Given the description of an element on the screen output the (x, y) to click on. 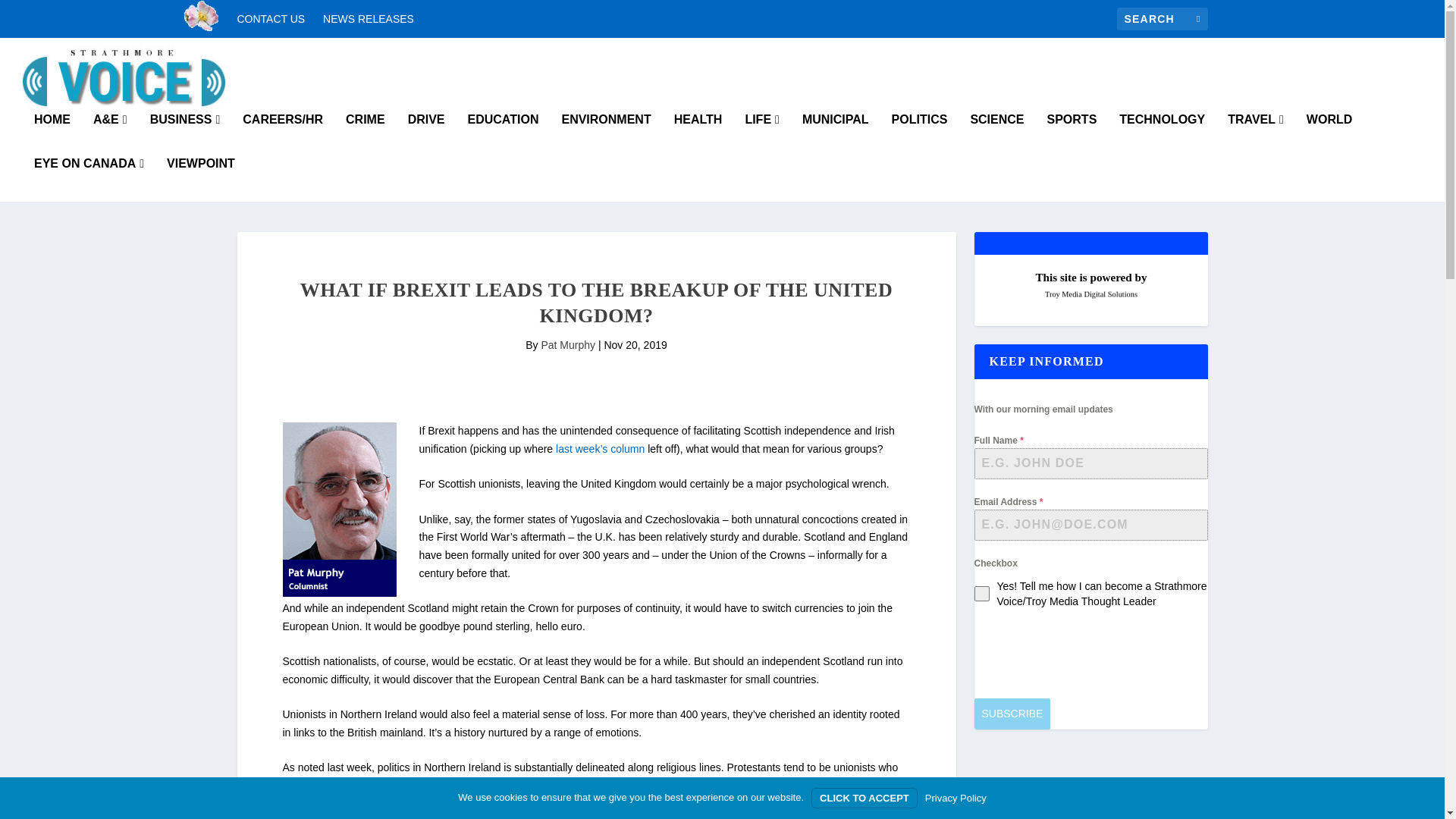
EYE ON CANADA (88, 179)
TECHNOLOGY (1162, 135)
SCIENCE (996, 135)
ENVIRONMENT (605, 135)
POLITICS (919, 135)
MUNICIPAL (835, 135)
BUSINESS (185, 135)
CONTACT US (269, 18)
NEWS RELEASES (368, 18)
TRAVEL (1255, 135)
